Given the description of an element on the screen output the (x, y) to click on. 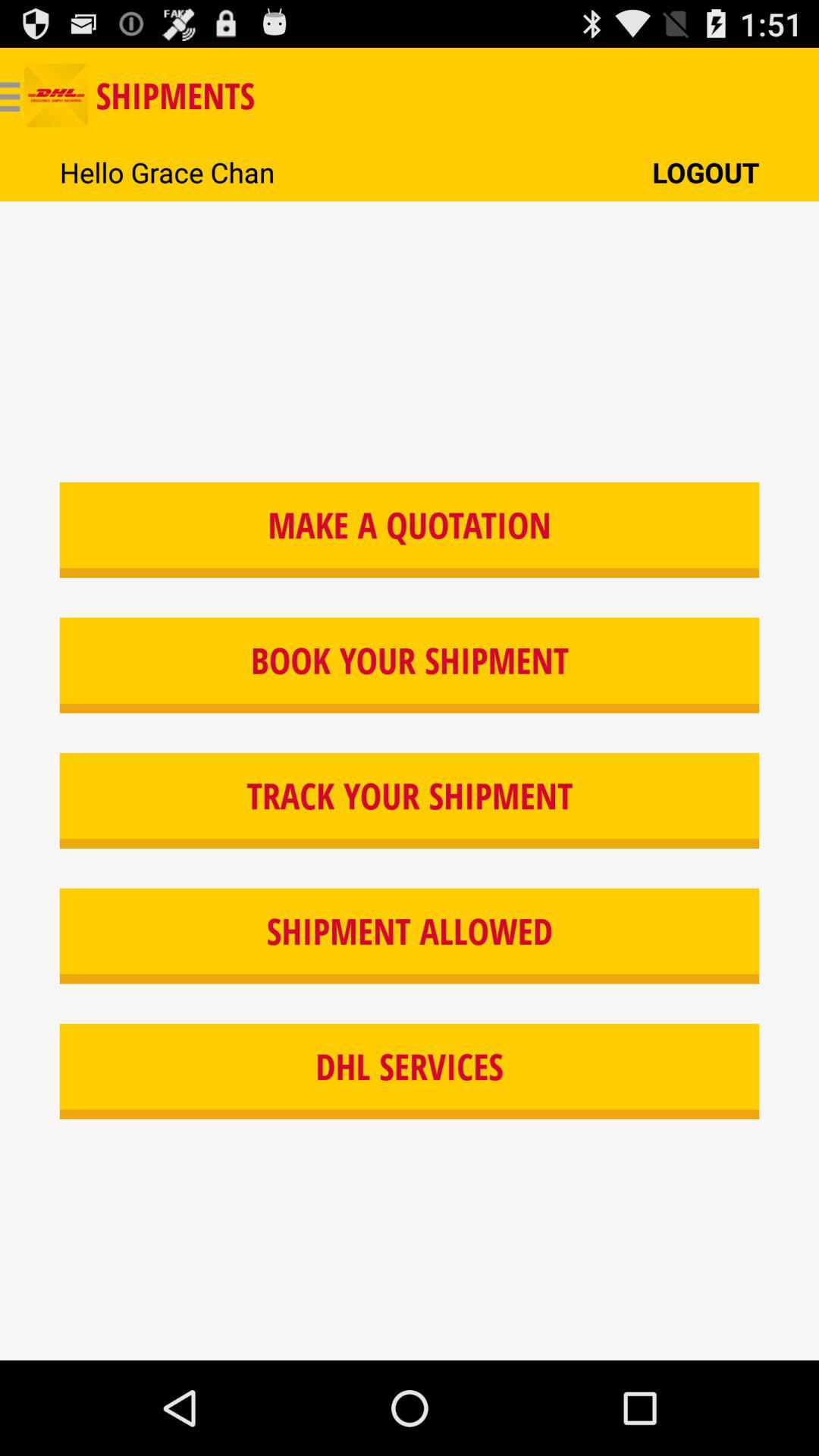
jump until logout app (705, 172)
